Given the description of an element on the screen output the (x, y) to click on. 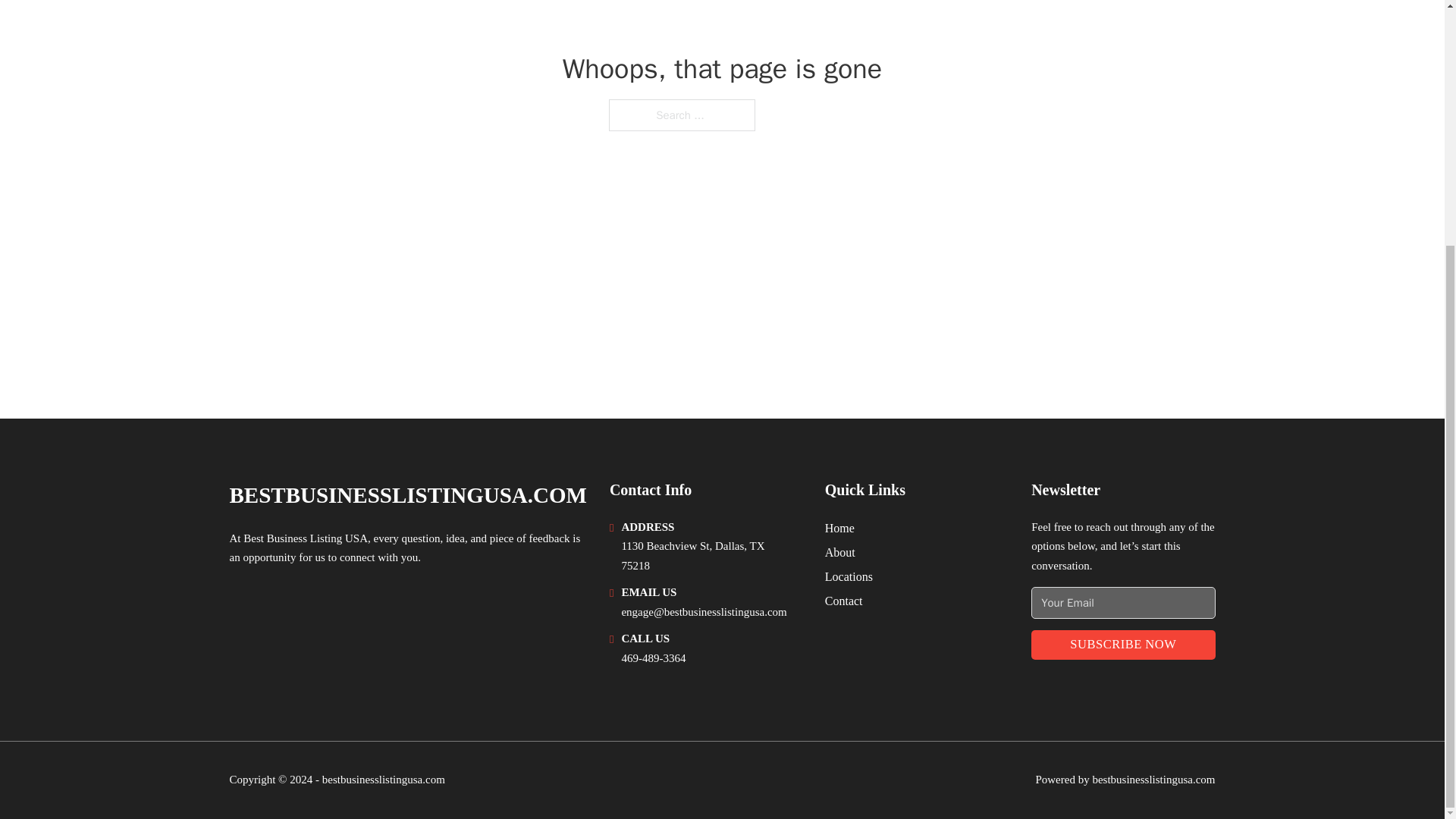
Locations (848, 576)
Contact (844, 600)
469-489-3364 (653, 657)
About (840, 552)
BESTBUSINESSLISTINGUSA.COM (407, 495)
Home (839, 527)
SUBSCRIBE NOW (1122, 644)
